Given the description of an element on the screen output the (x, y) to click on. 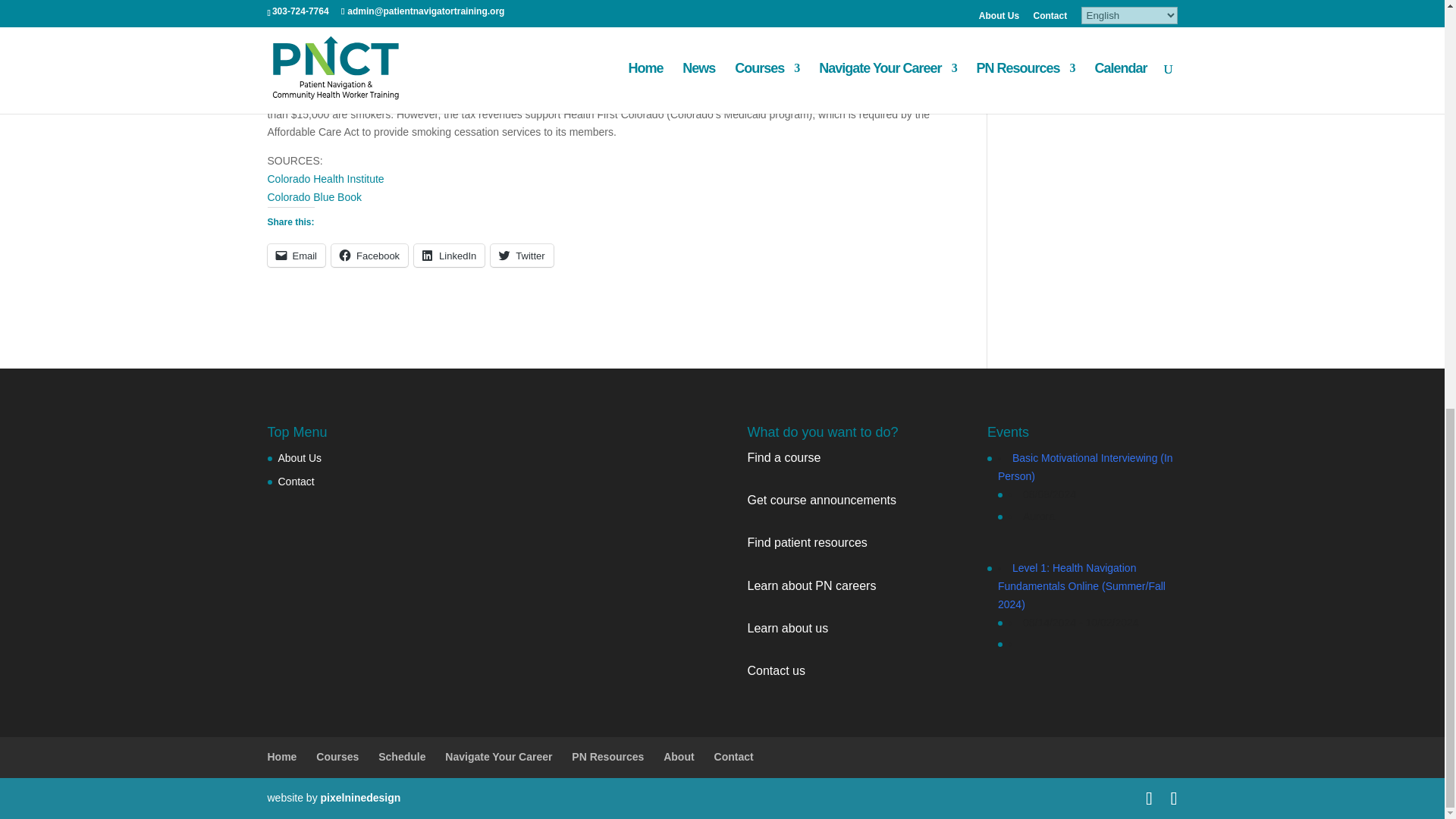
Click to share on Twitter (521, 255)
Click to share on LinkedIn (448, 255)
Click to share on Facebook (369, 255)
Click to email a link to a friend (295, 255)
